Given the description of an element on the screen output the (x, y) to click on. 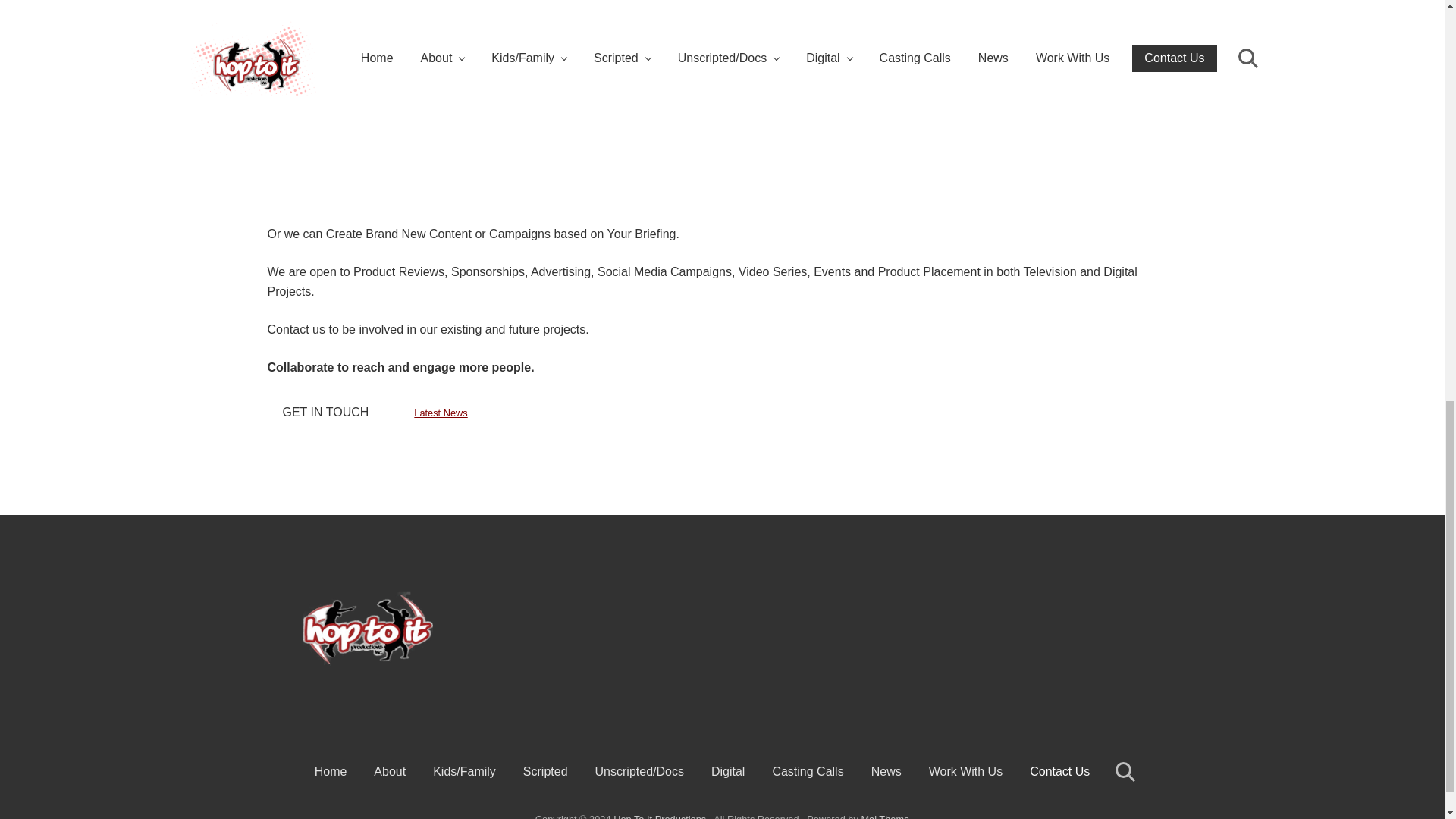
Hop To It Productions (659, 816)
Latest News (440, 412)
